Given the description of an element on the screen output the (x, y) to click on. 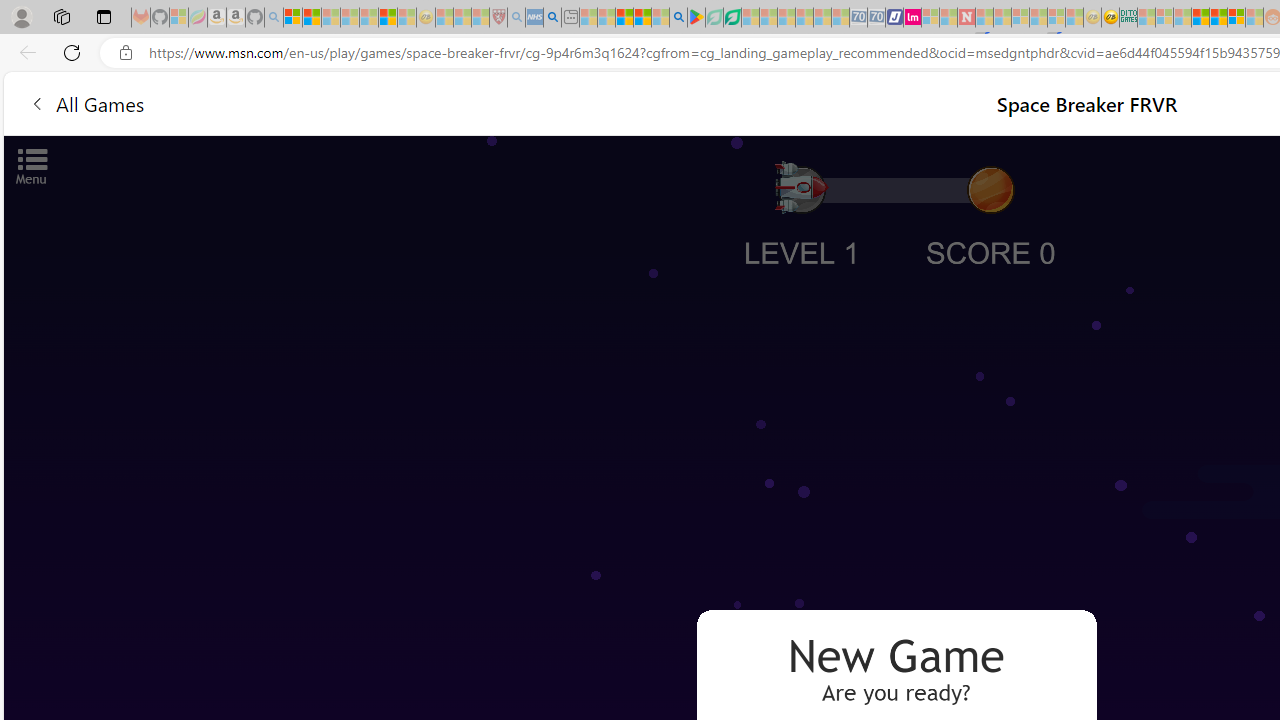
Jobs - lastminute.com Investor Portal (912, 17)
Local - MSN - Sleeping (480, 17)
MSNBC - MSN - Sleeping (1145, 17)
The Weather Channel - MSN - Sleeping (331, 17)
google - Search (678, 17)
Cheap Car Rentals - Save70.com - Sleeping (857, 17)
